Given the description of an element on the screen output the (x, y) to click on. 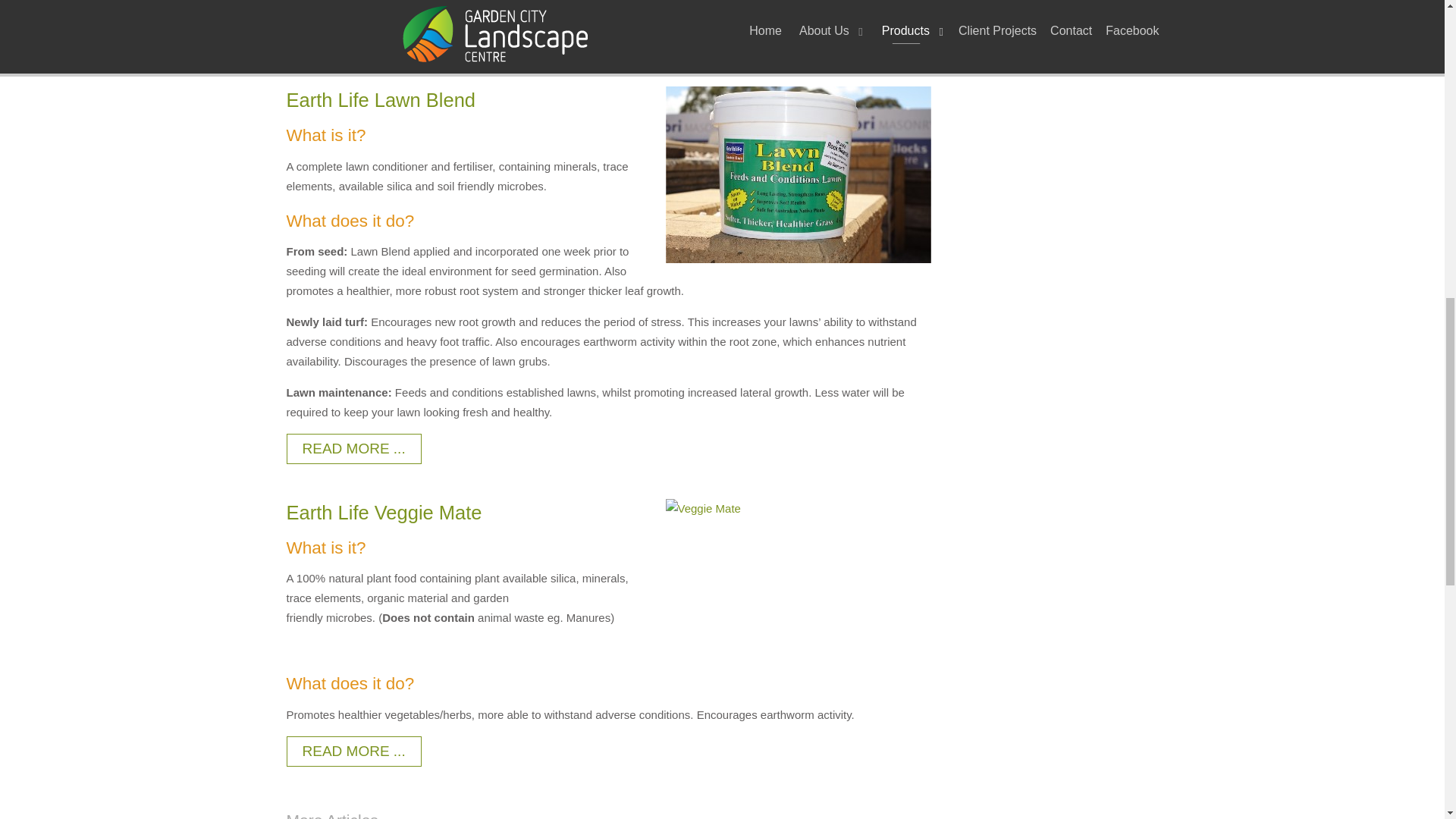
READ MORE ... (354, 449)
READ MORE ... (354, 36)
READ MORE ... (354, 750)
